Given the description of an element on the screen output the (x, y) to click on. 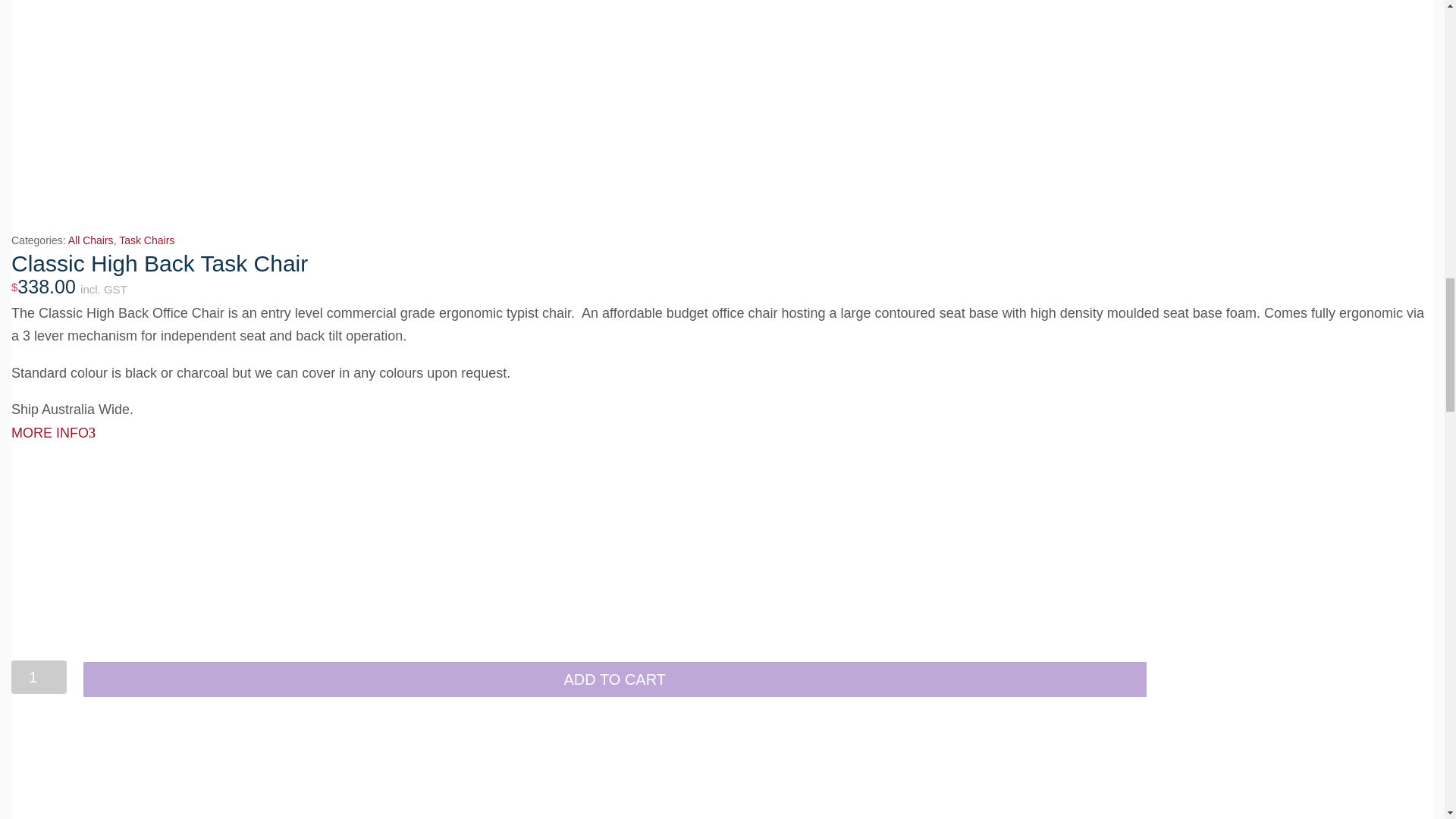
1 (38, 676)
